Given the description of an element on the screen output the (x, y) to click on. 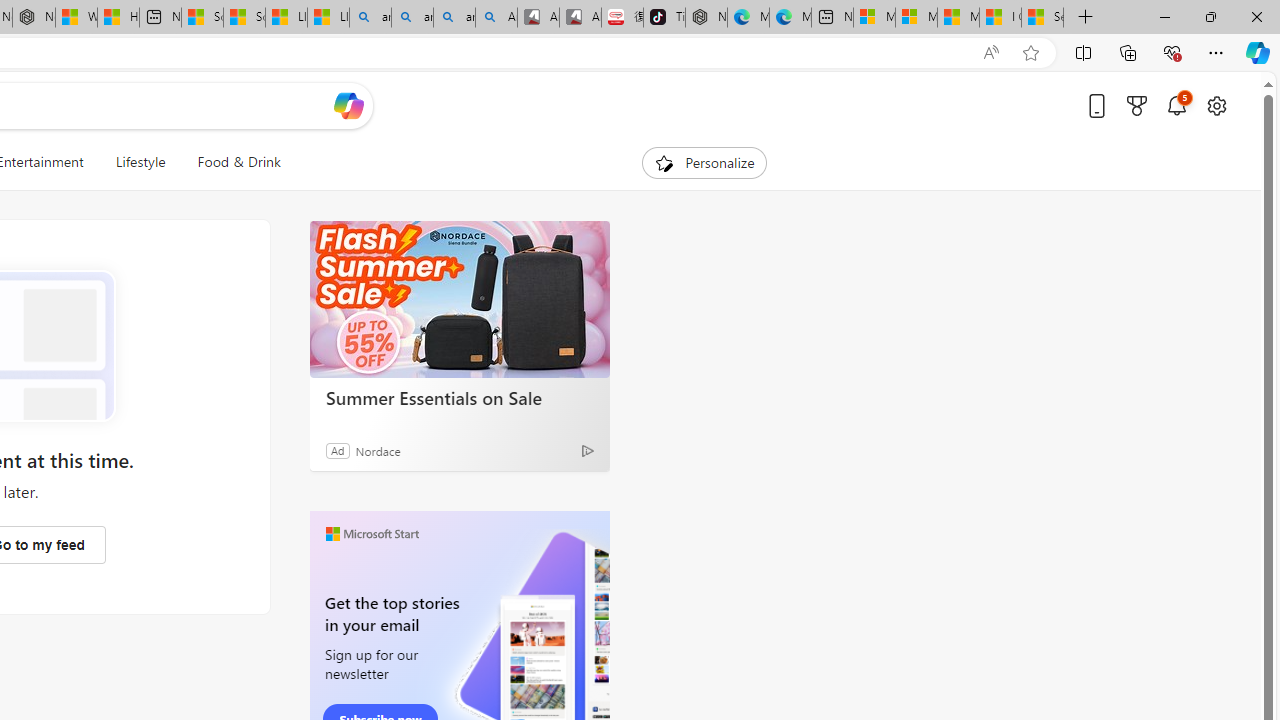
Summer Essentials on Sale (459, 397)
